Given the description of an element on the screen output the (x, y) to click on. 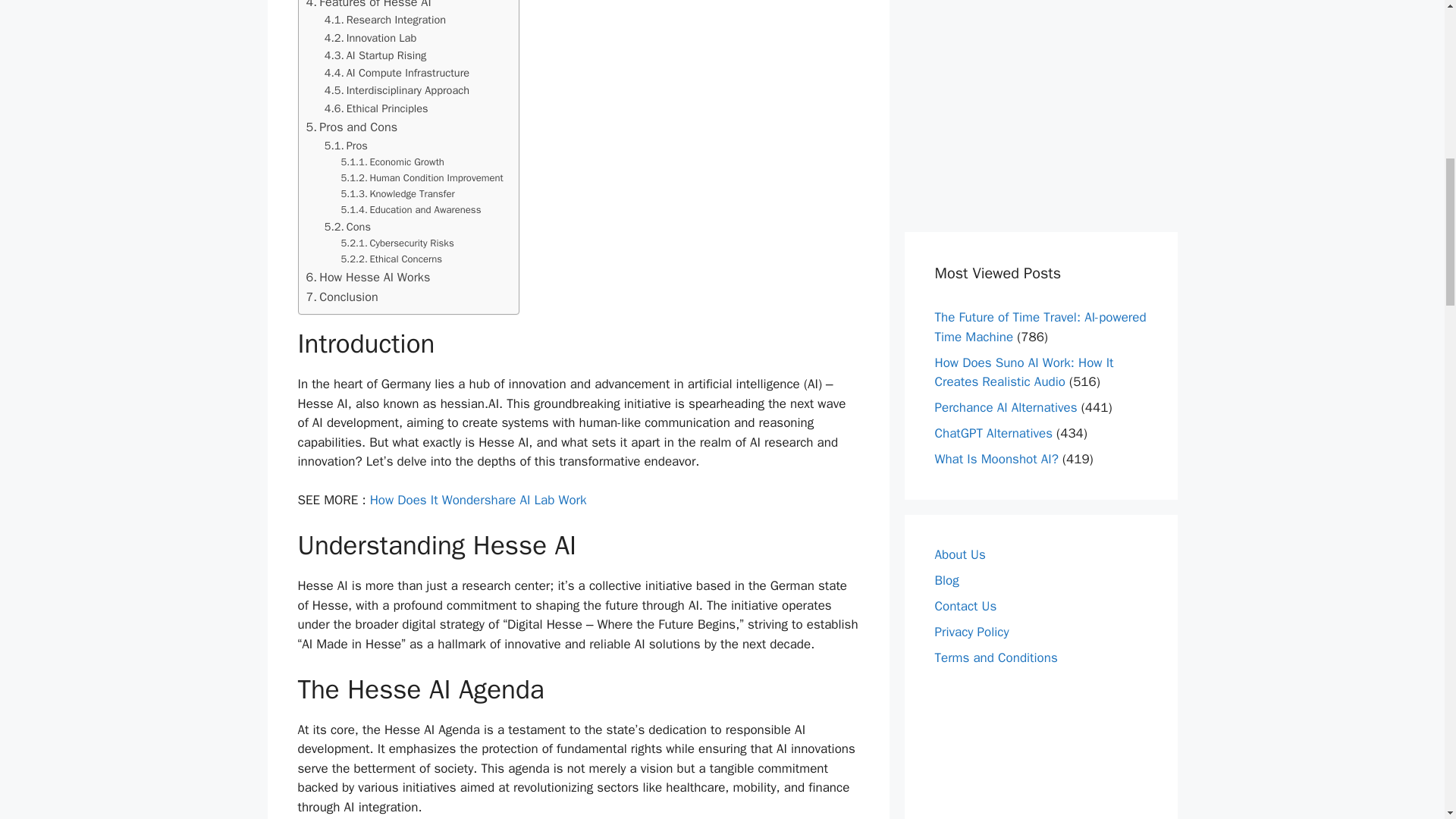
Features of Hesse AI (367, 6)
How Does It Wondershare AI Lab Work (477, 499)
How Hesse AI Works (367, 277)
Cons (347, 226)
Conclusion (341, 297)
AI Startup Rising (375, 55)
Human Condition Improvement (421, 178)
Ethical Concerns (391, 259)
Innovation Lab (370, 37)
Research Integration (384, 19)
